Given the description of an element on the screen output the (x, y) to click on. 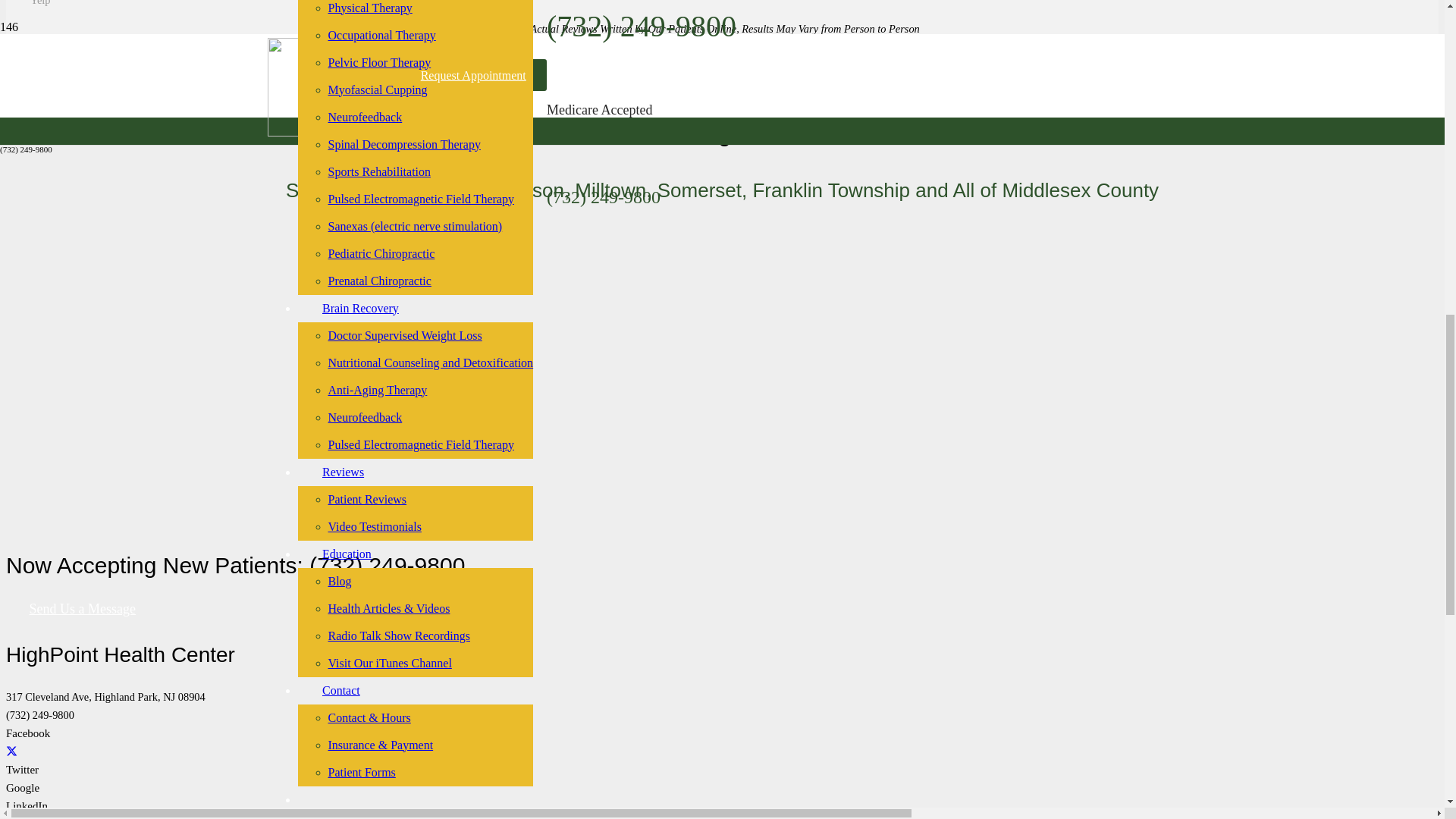
Twitter (11, 751)
